Given the description of an element on the screen output the (x, y) to click on. 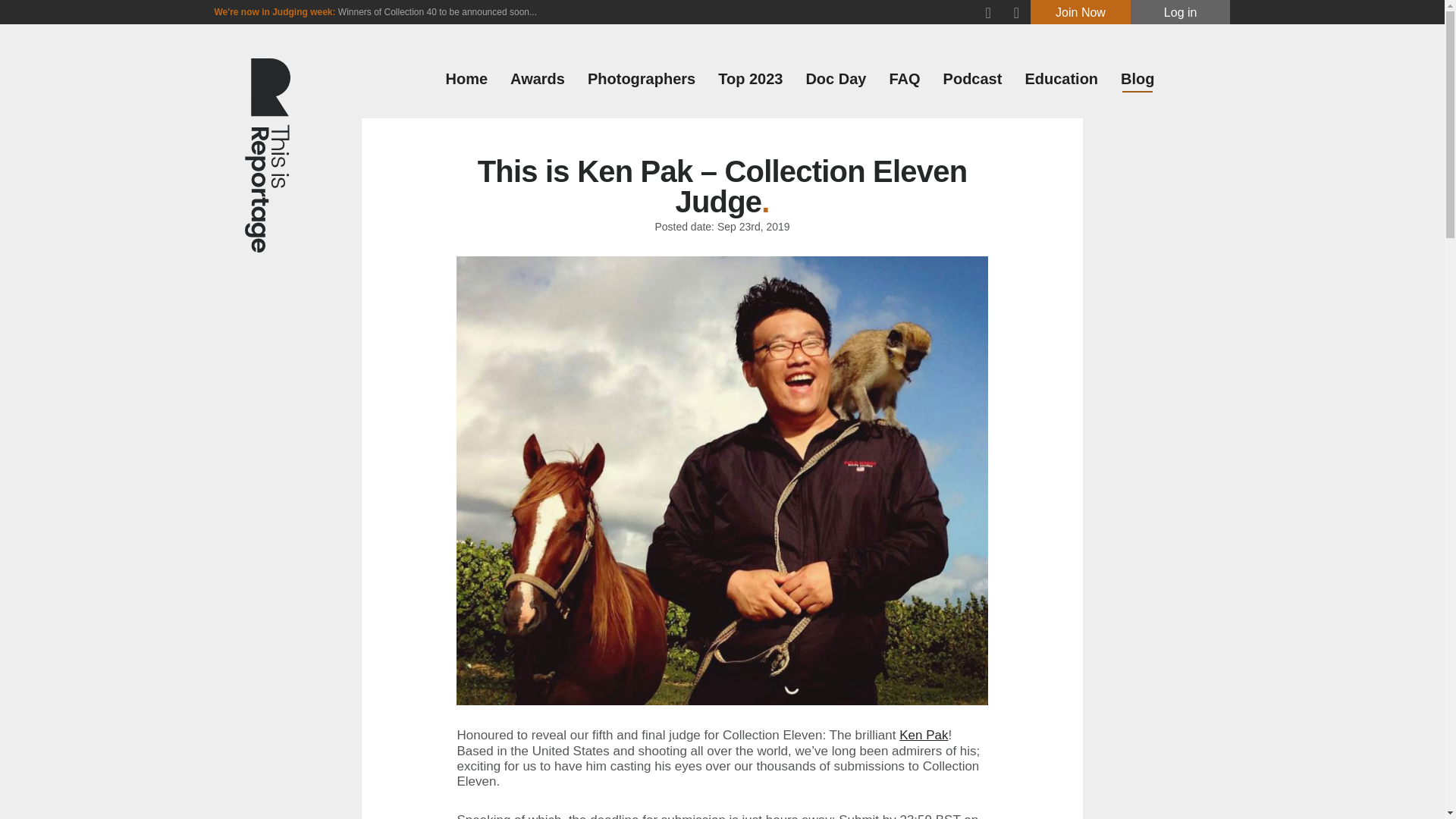
Log in (1180, 12)
Awards (537, 78)
FAQ (904, 78)
Top 2023 (750, 78)
Podcast (973, 78)
Photographers (641, 78)
Ken Pak (923, 735)
Blog (1137, 78)
Education (1061, 78)
Doc Day (835, 78)
Join Now (1080, 12)
Home (466, 78)
